Given the description of an element on the screen output the (x, y) to click on. 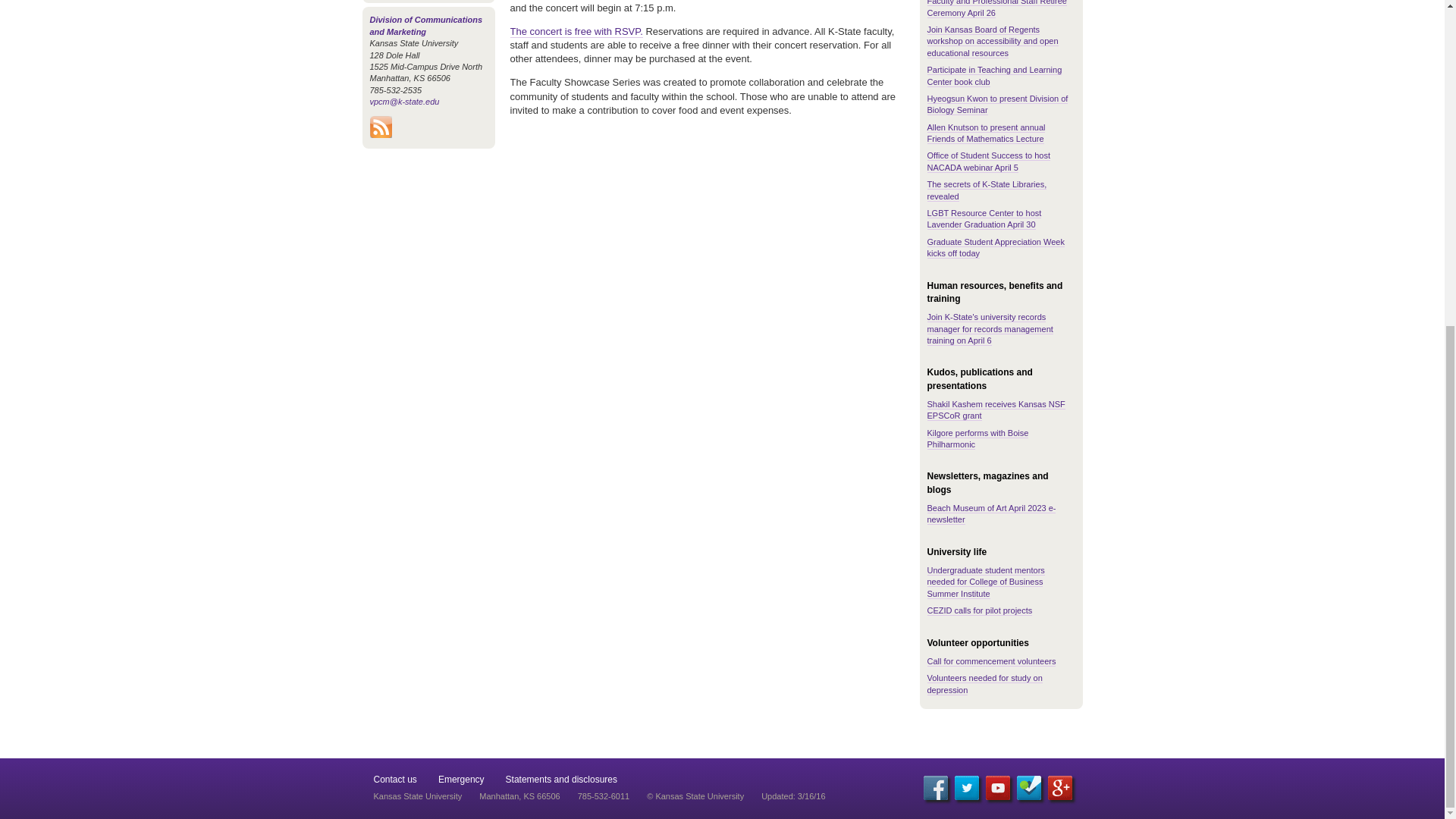
Subscribe to K-State Today RSS feeds (380, 133)
Division of Communications and Marketing (426, 25)
The concert is free with RSVP. (575, 31)
